Given the description of an element on the screen output the (x, y) to click on. 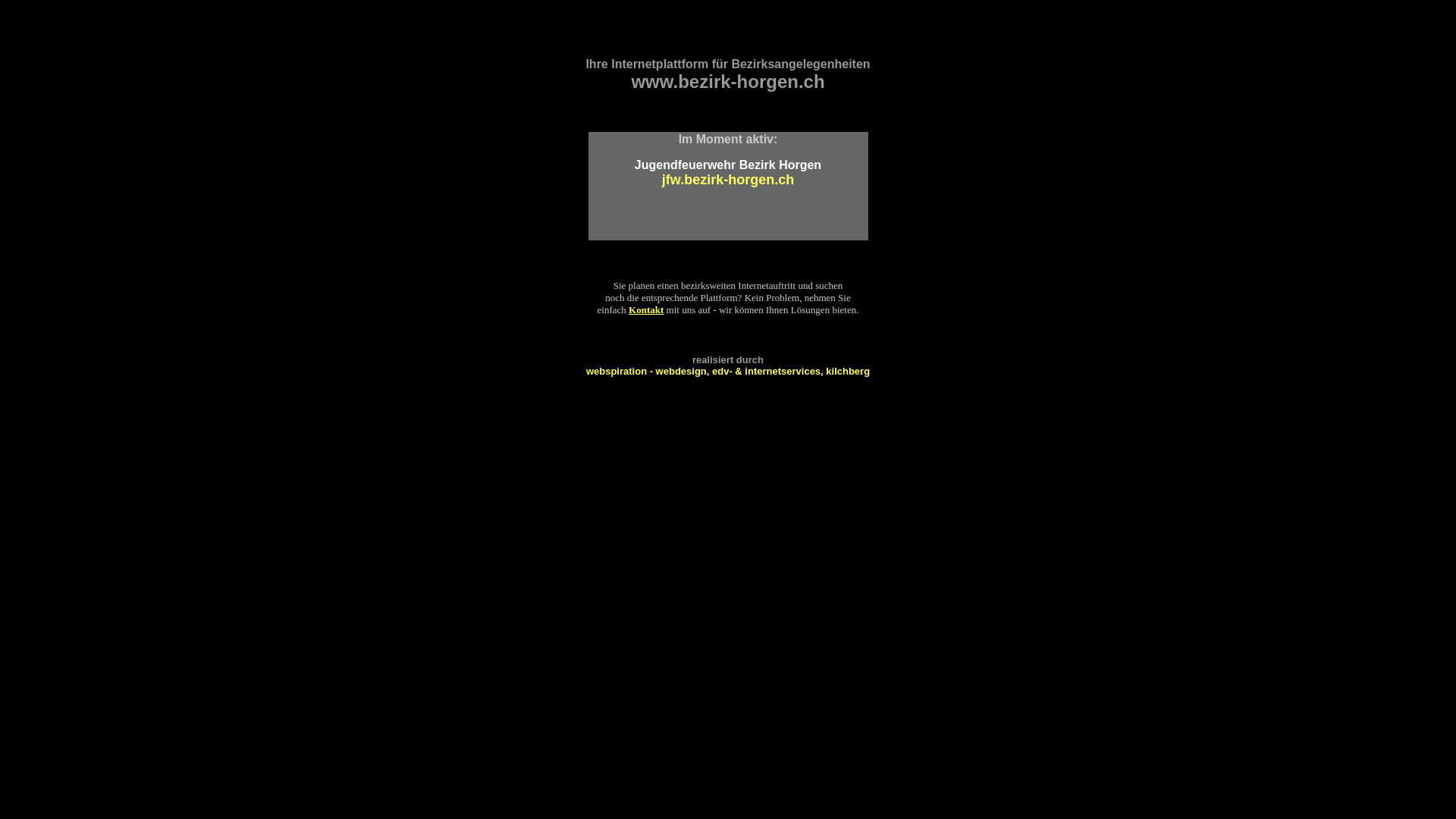
Kontakt Element type: text (645, 309)
jfw.bezirk-horgen.ch Element type: text (727, 179)
webspiration - webdesign, edv- & internetservices, kilchberg Element type: text (727, 370)
